Given the description of an element on the screen output the (x, y) to click on. 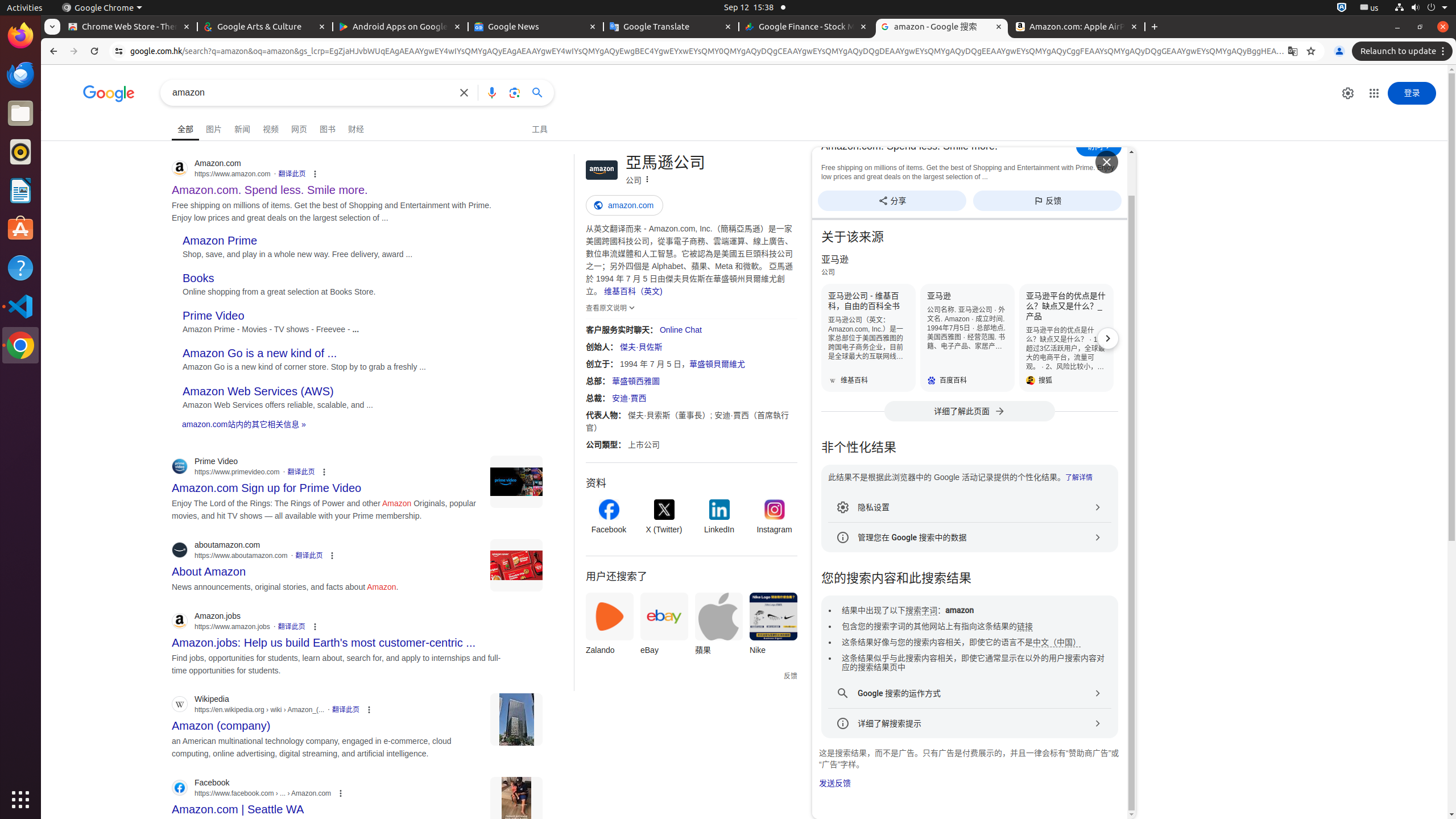
关闭 Element type: push-button (1106, 161)
这条结果好像与您的搜索内容相关，即使它的语言不是中文（中国） Element type: push-button (960, 642)
eBay Element type: link (664, 627)
财经 Element type: link (355, 127)
Google Chrome Element type: menu (101, 7)
